Given the description of an element on the screen output the (x, y) to click on. 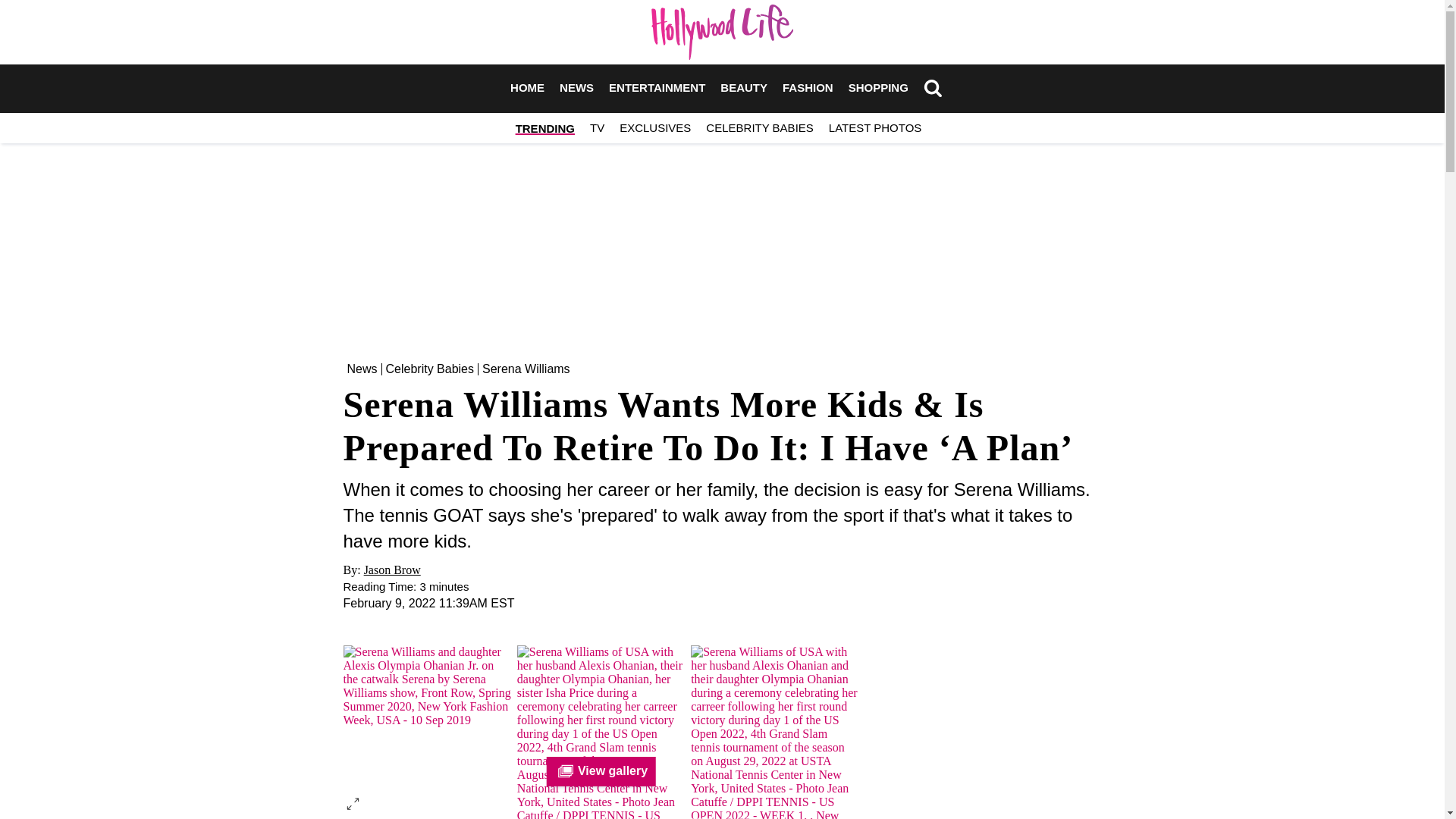
SHOPPING (878, 88)
ENTERTAINMENT (656, 88)
Posts by Jason Brow (392, 569)
Hollywood Life (722, 32)
BEAUTY (743, 88)
FASHION (807, 88)
